Given the description of an element on the screen output the (x, y) to click on. 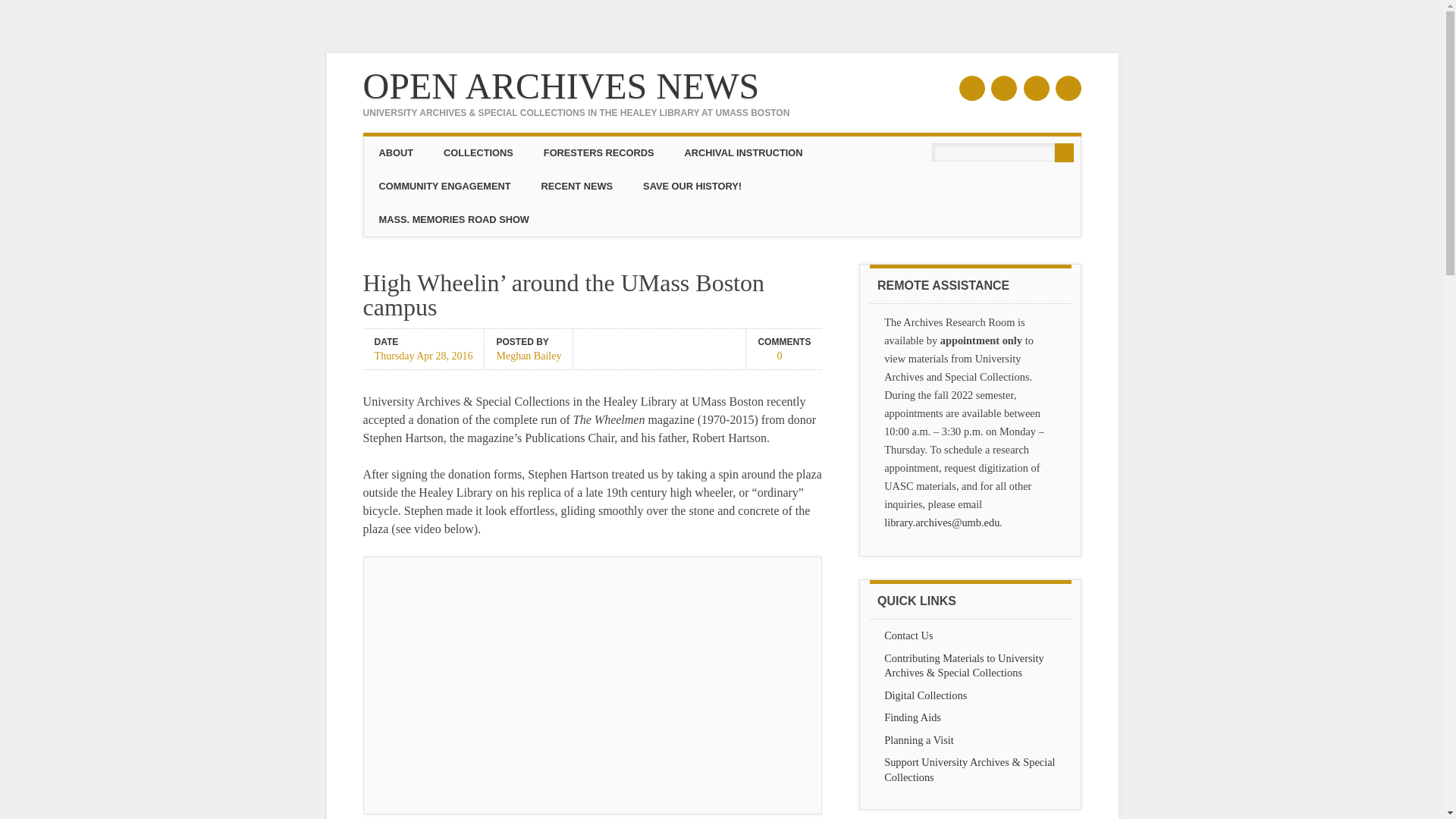
ABOUT (396, 152)
Explore our collection descriptions and finding aids. (911, 717)
Email (1068, 88)
View all posts by Meghan Bailey (528, 354)
Twitter (1003, 88)
COMMUNITY ENGAGEMENT (444, 186)
Facebook (972, 88)
Contact Archives staff (908, 635)
OPEN ARCHIVES NEWS (561, 86)
